Given the description of an element on the screen output the (x, y) to click on. 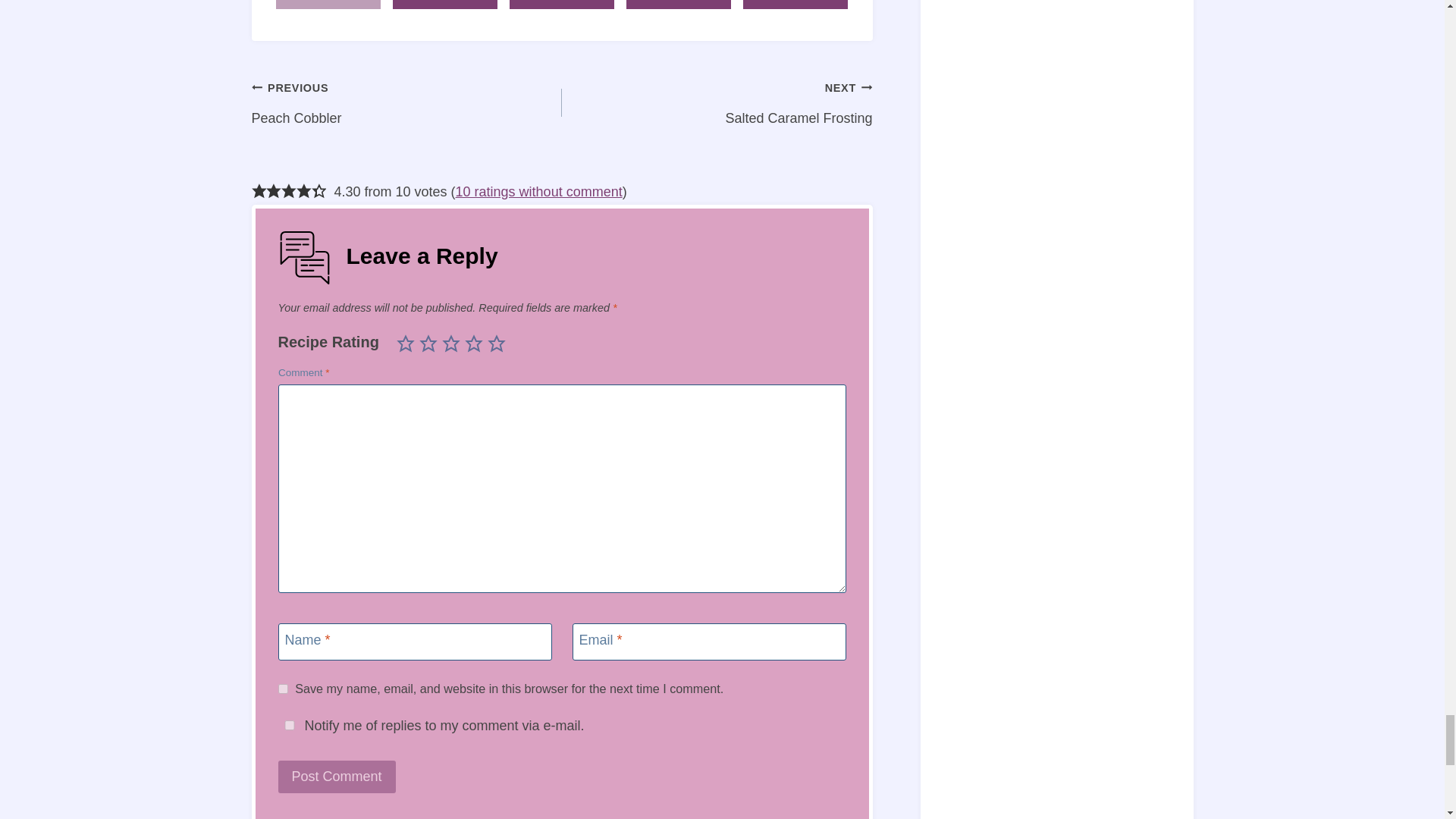
Share on Facebook (445, 4)
Share on X (679, 4)
Save to Pinterest (328, 4)
Post Comment (336, 776)
Share on Yummly (561, 4)
yes (282, 688)
Send over email (795, 4)
replies (288, 725)
